Given the description of an element on the screen output the (x, y) to click on. 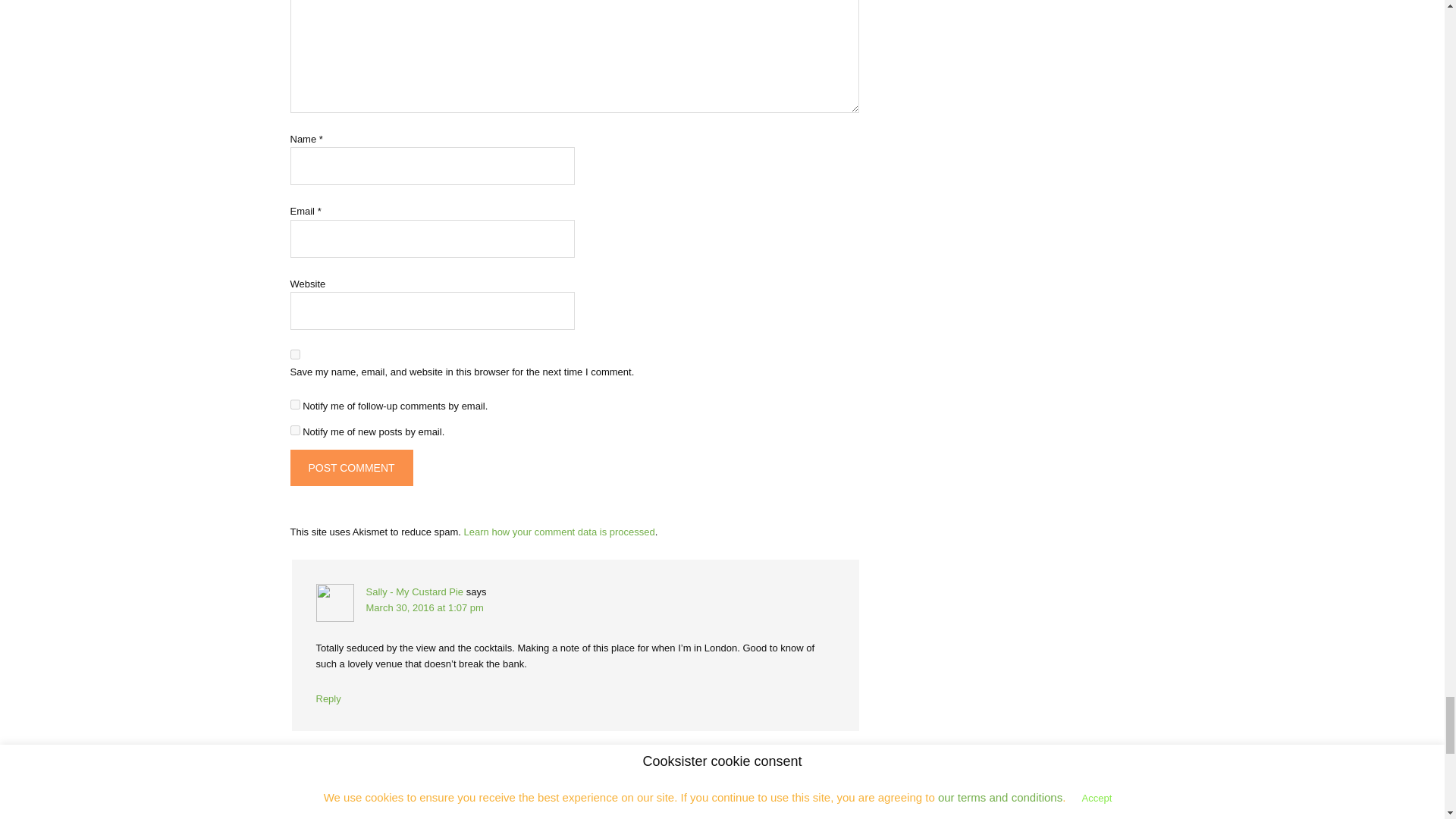
subscribe (294, 404)
Post Comment (350, 467)
subscribe (294, 429)
yes (294, 354)
